Given the description of an element on the screen output the (x, y) to click on. 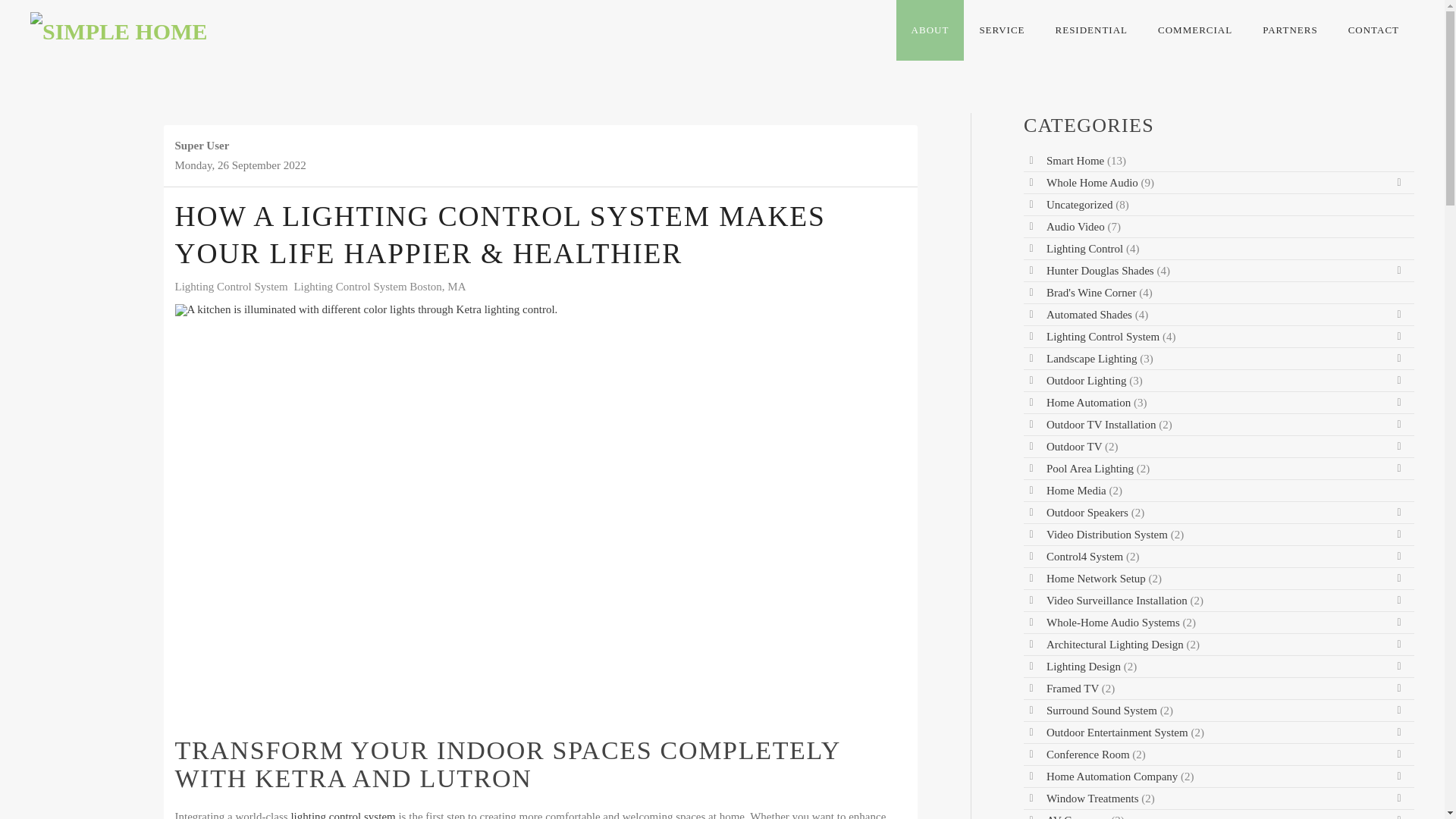
SERVICE (1001, 30)
RESIDENTIAL (1091, 30)
ABOUT (929, 30)
